Given the description of an element on the screen output the (x, y) to click on. 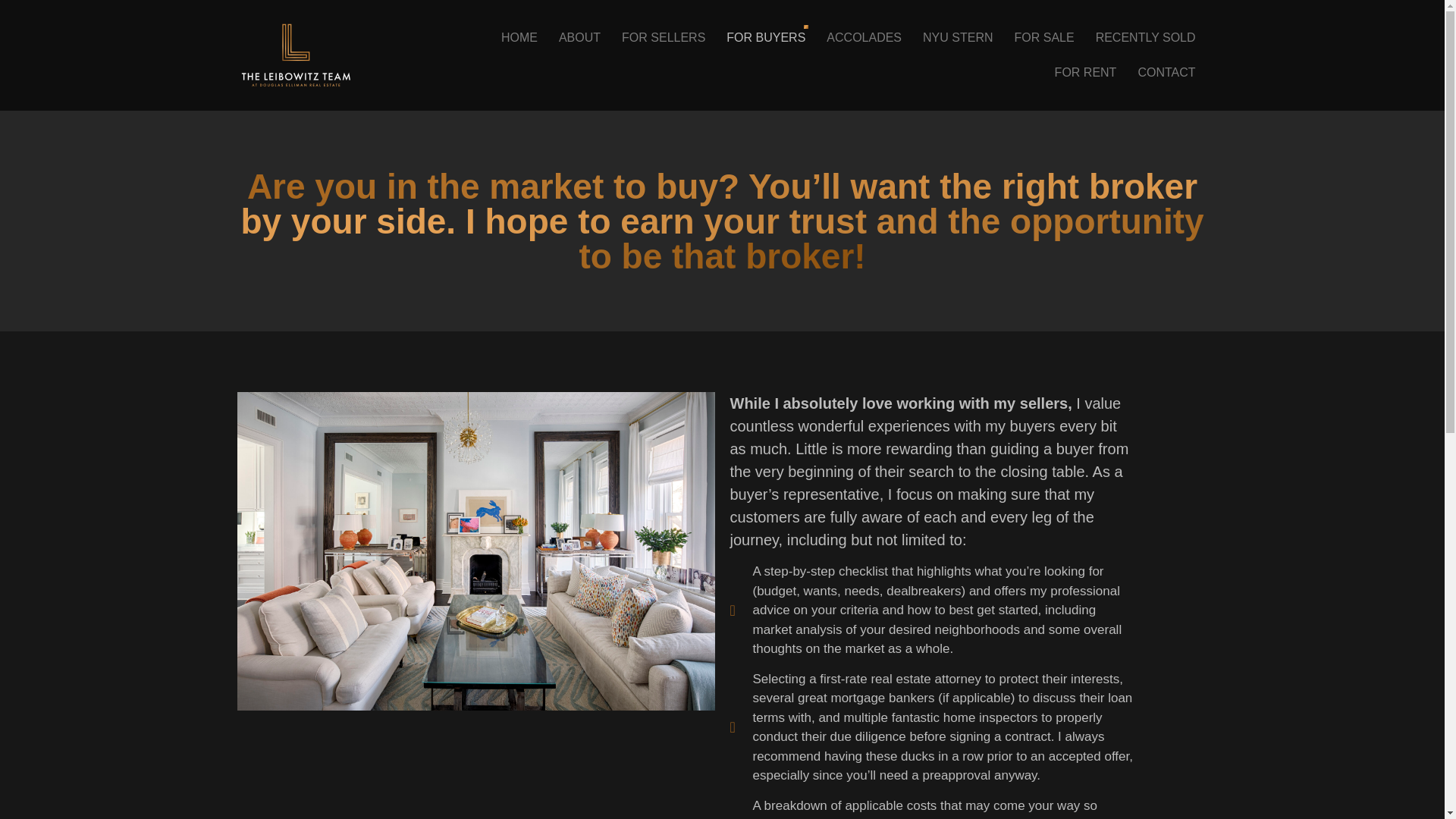
HOME (519, 37)
CONTACT (1165, 72)
ABOUT (579, 37)
RECENTLY SOLD (1145, 37)
ACCOLADES (863, 37)
FOR RENT (1084, 72)
FOR SELLERS (663, 37)
FOR SALE (1044, 37)
NYU STERN (957, 37)
FOR BUYERS (765, 37)
